Given the description of an element on the screen output the (x, y) to click on. 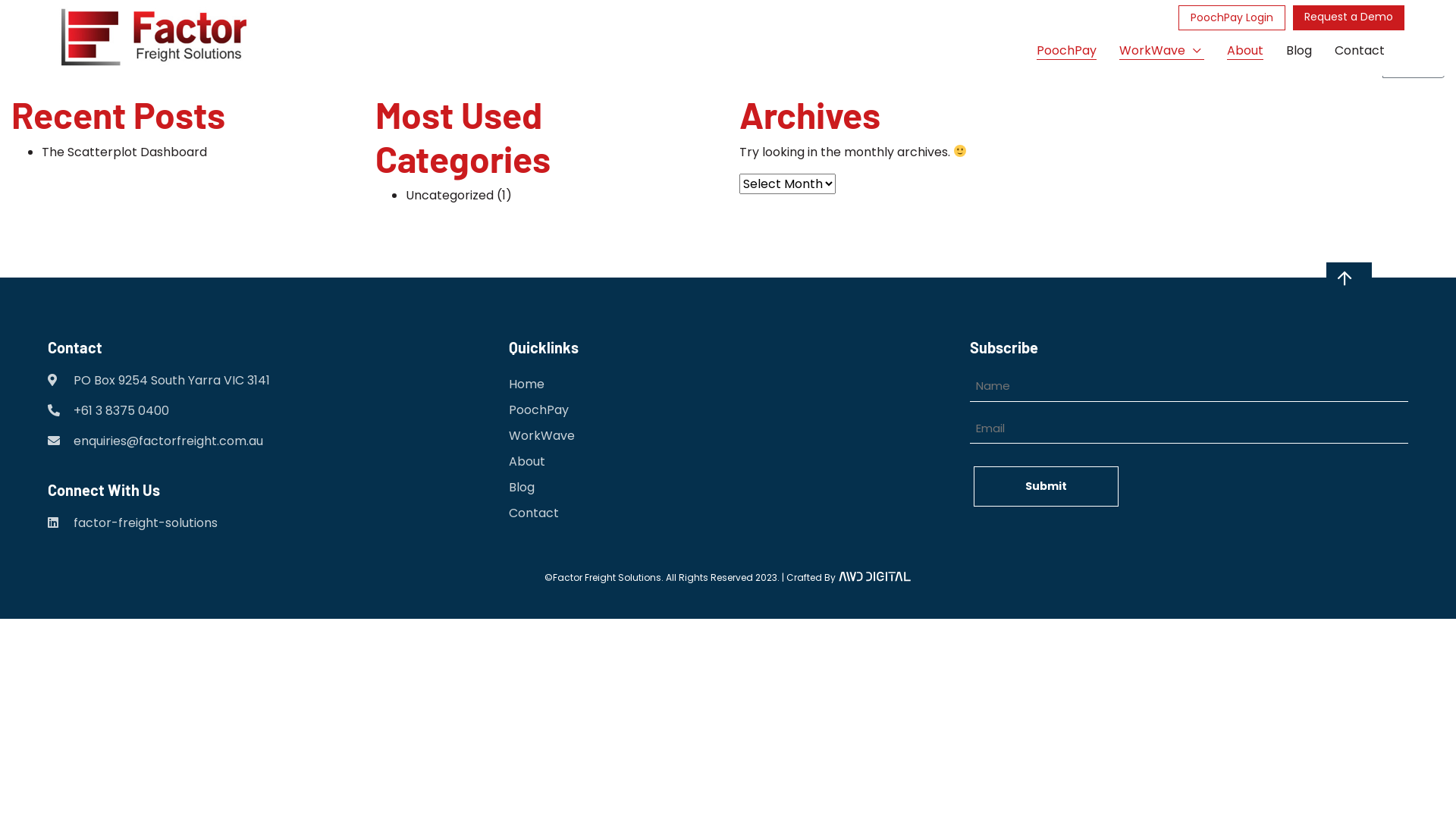
The Scatterplot Dashboard Element type: text (124, 152)
Uncategorized Element type: text (449, 195)
About Element type: text (526, 461)
+61 3 8375 0400 Element type: text (121, 410)
PoochPay Login Element type: text (1231, 16)
Contact Element type: text (1359, 49)
Home Element type: text (526, 384)
Request a Demo Element type: text (1348, 16)
WorkWave Element type: text (541, 435)
enquiries@factorfreight.com.au Element type: text (168, 441)
Search Element type: text (1413, 63)
Contact Element type: text (533, 513)
factor-freight-solutions Element type: text (132, 523)
About Element type: text (1244, 49)
Factor Freight Element type: hover (153, 38)
PoochPay Element type: text (538, 410)
Blog Element type: text (521, 487)
PoochPay Element type: text (1066, 49)
AWD Digital Element type: hover (874, 576)
Submit Element type: text (1045, 486)
Blog Element type: text (1298, 49)
WorkWave Element type: text (1161, 49)
